Given the description of an element on the screen output the (x, y) to click on. 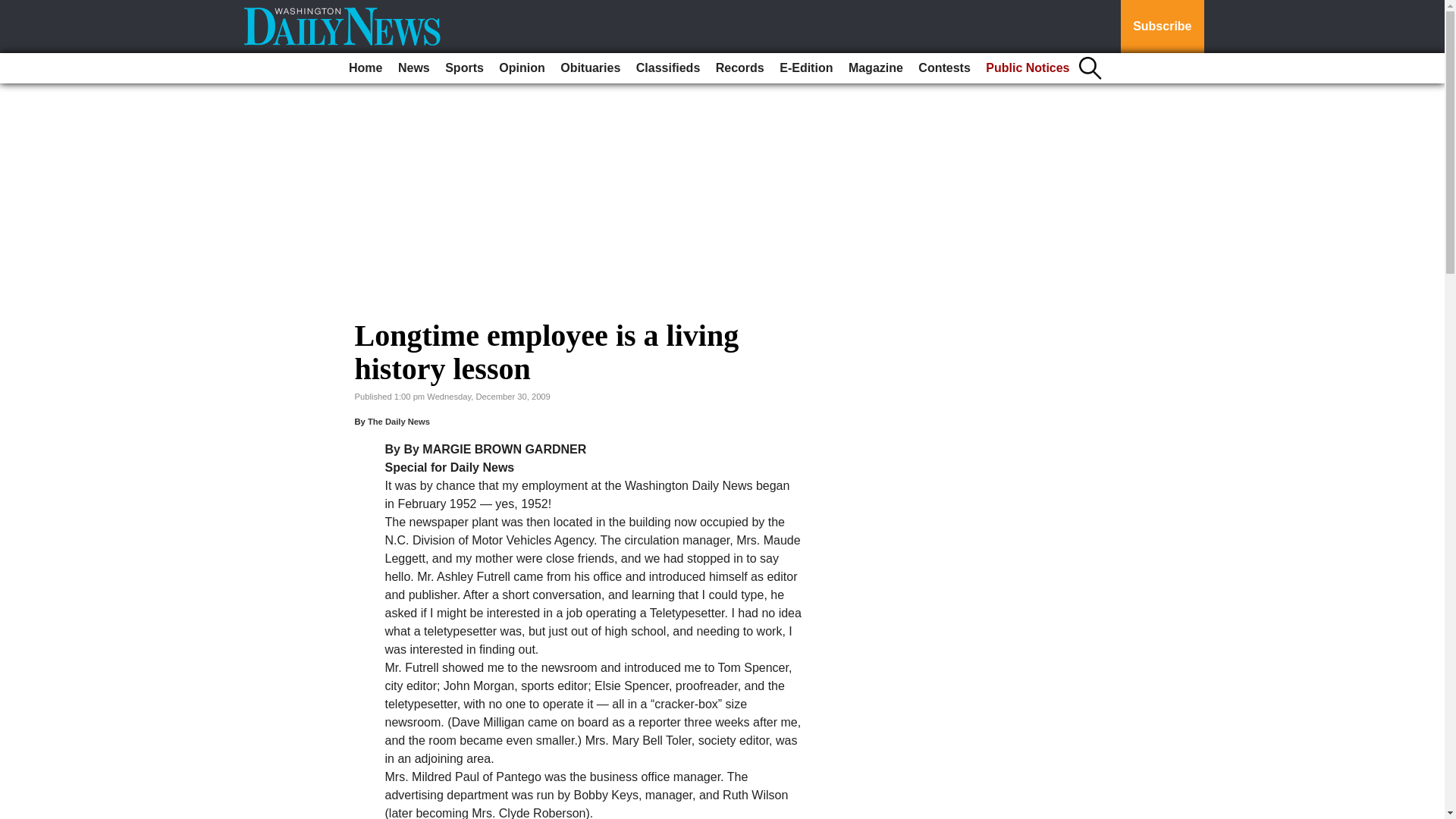
Home (365, 68)
Go (13, 9)
Obituaries (590, 68)
Magazine (875, 68)
Classifieds (668, 68)
E-Edition (805, 68)
Records (740, 68)
Subscribe (1162, 26)
Contests (943, 68)
The Daily News (398, 420)
News (413, 68)
Opinion (521, 68)
Public Notices (1027, 68)
Sports (464, 68)
